Given the description of an element on the screen output the (x, y) to click on. 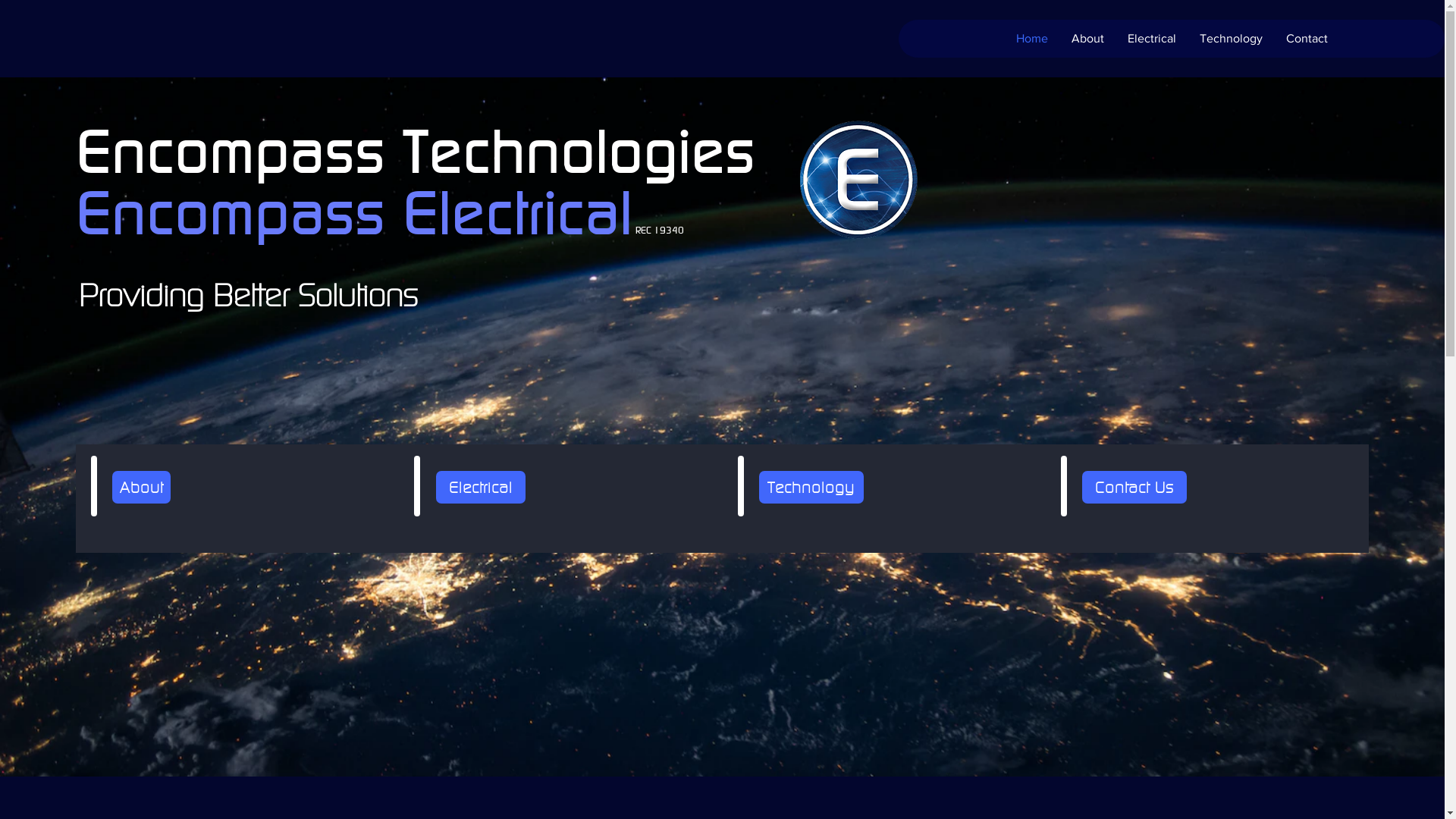
Electrical Element type: text (480, 486)
Technology Element type: text (810, 486)
Contact Us Element type: text (1134, 486)
About Element type: text (1087, 38)
Technology Element type: text (1230, 38)
Electrical Element type: text (1151, 38)
Home Element type: text (1031, 38)
Contact Element type: text (1306, 38)
About Element type: text (141, 486)
